Given the description of an element on the screen output the (x, y) to click on. 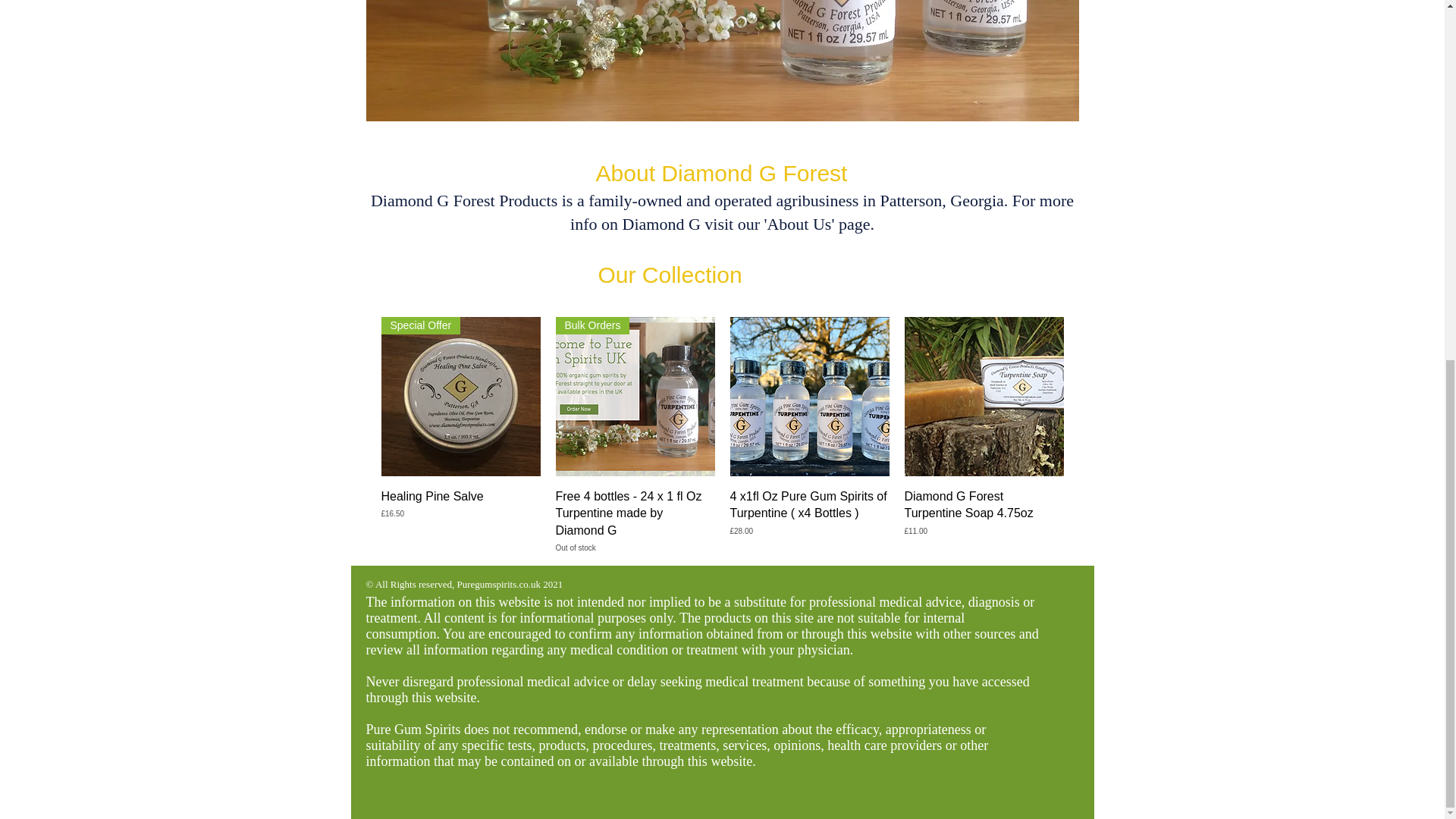
Special Offer (460, 395)
Bulk Orders (634, 395)
